Given the description of an element on the screen output the (x, y) to click on. 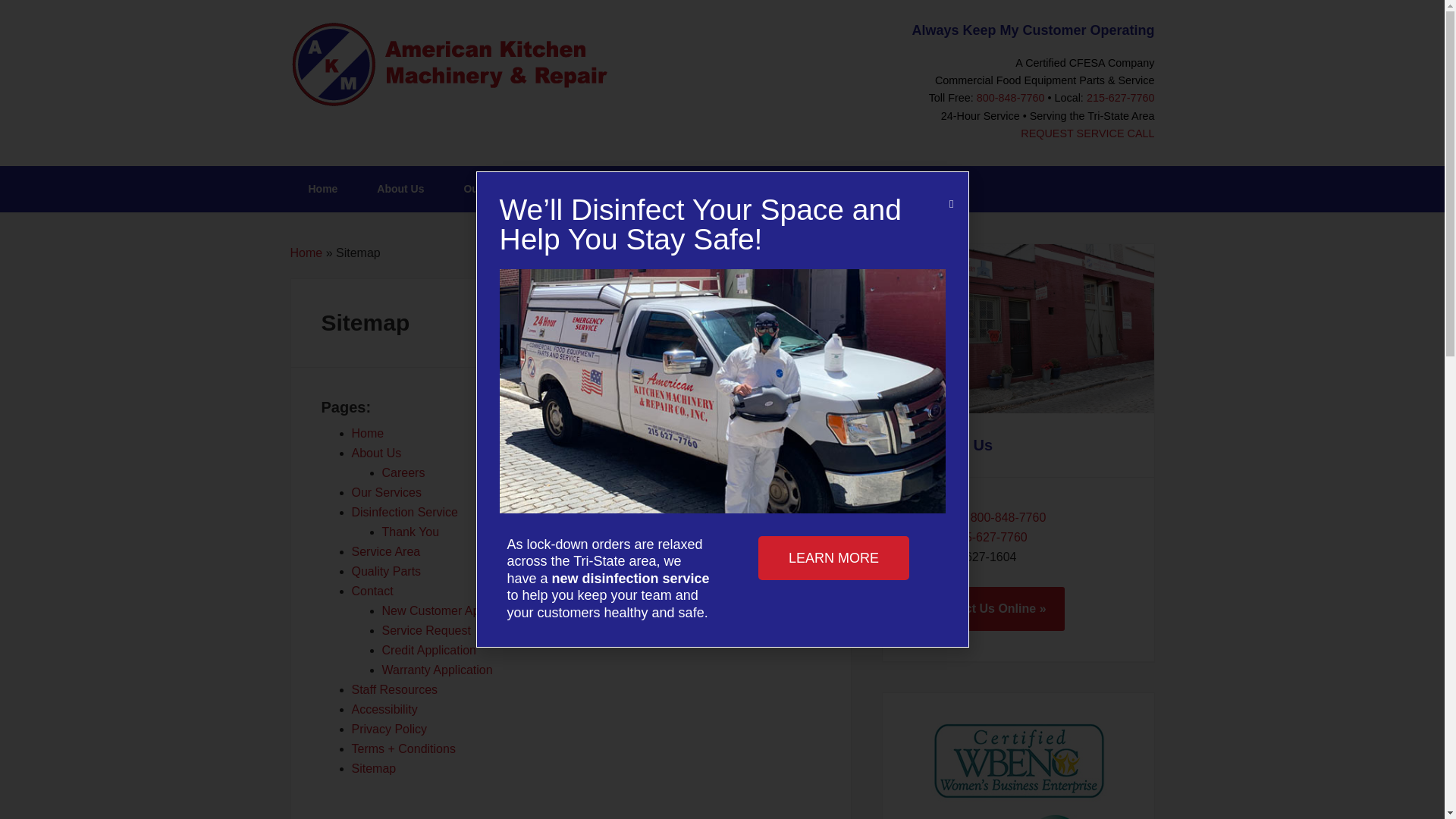
Our Services (496, 189)
Service Area (386, 551)
About Us (376, 452)
Thank You (410, 531)
Home (305, 252)
Credit Application (429, 649)
Careers (403, 472)
Contact Us (952, 444)
Service Area (740, 189)
Quality Parts (845, 189)
